Given the description of an element on the screen output the (x, y) to click on. 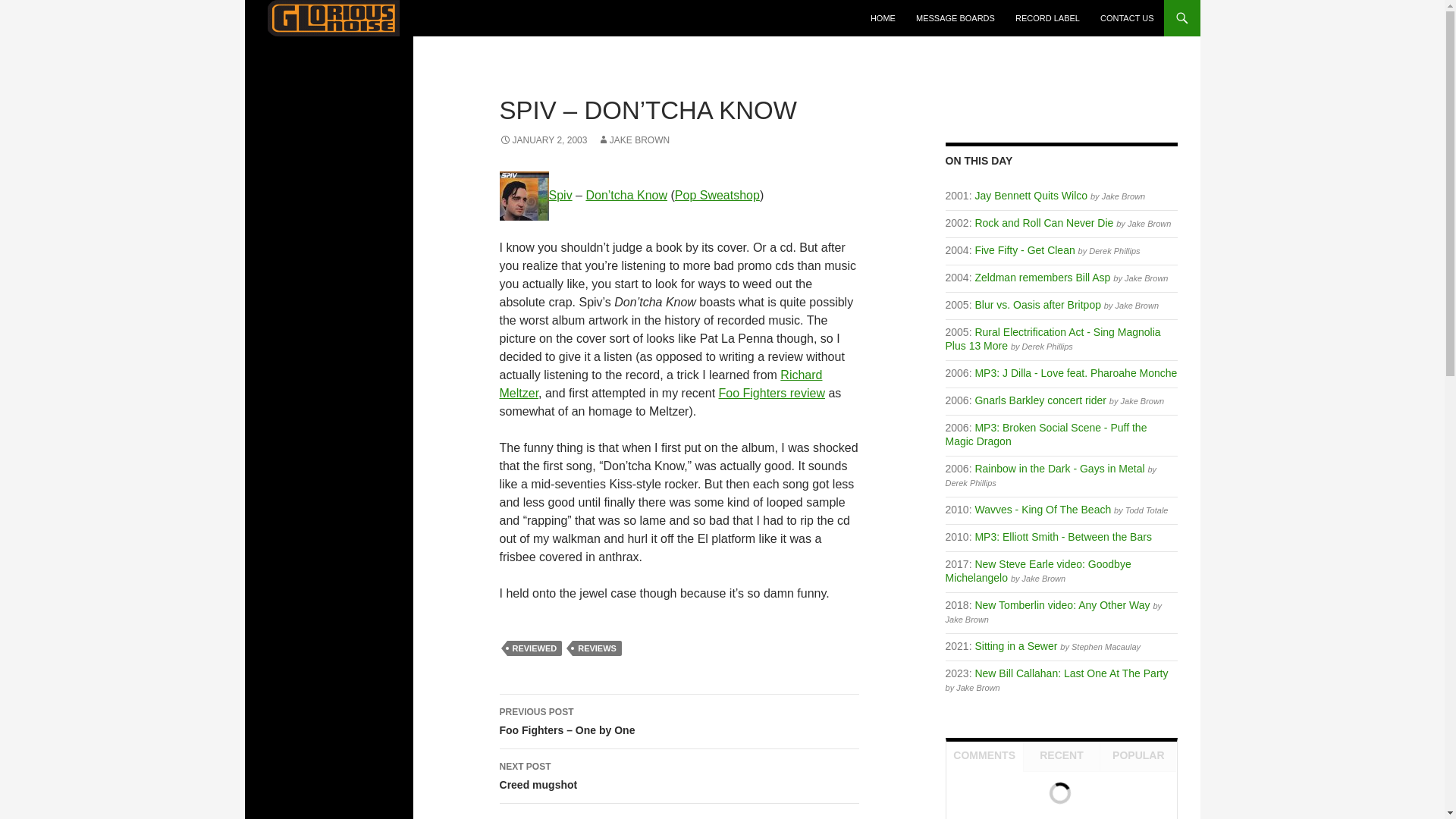
Glorious Noise (315, 54)
REVIEWS (596, 648)
RECORD LABEL (1047, 18)
Spiv (560, 195)
Jake Brown (1136, 305)
Foo Fighters review (772, 392)
MP3: J Dilla - Love feat. Pharoahe Monche (1075, 372)
JAKE BROWN (632, 140)
Richard Meltzer (660, 383)
